Given the description of an element on the screen output the (x, y) to click on. 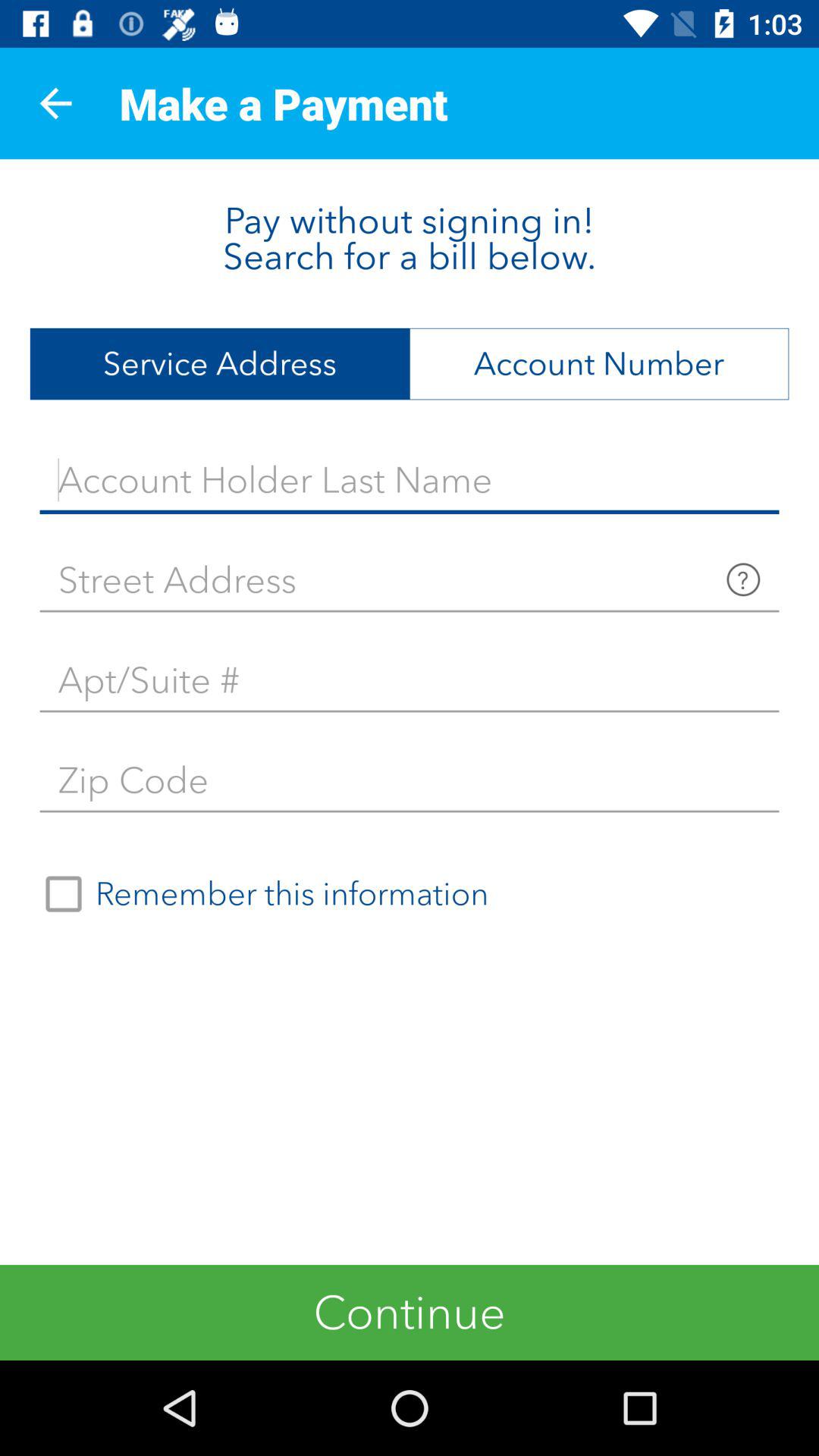
open remember this information on the left (259, 893)
